Given the description of an element on the screen output the (x, y) to click on. 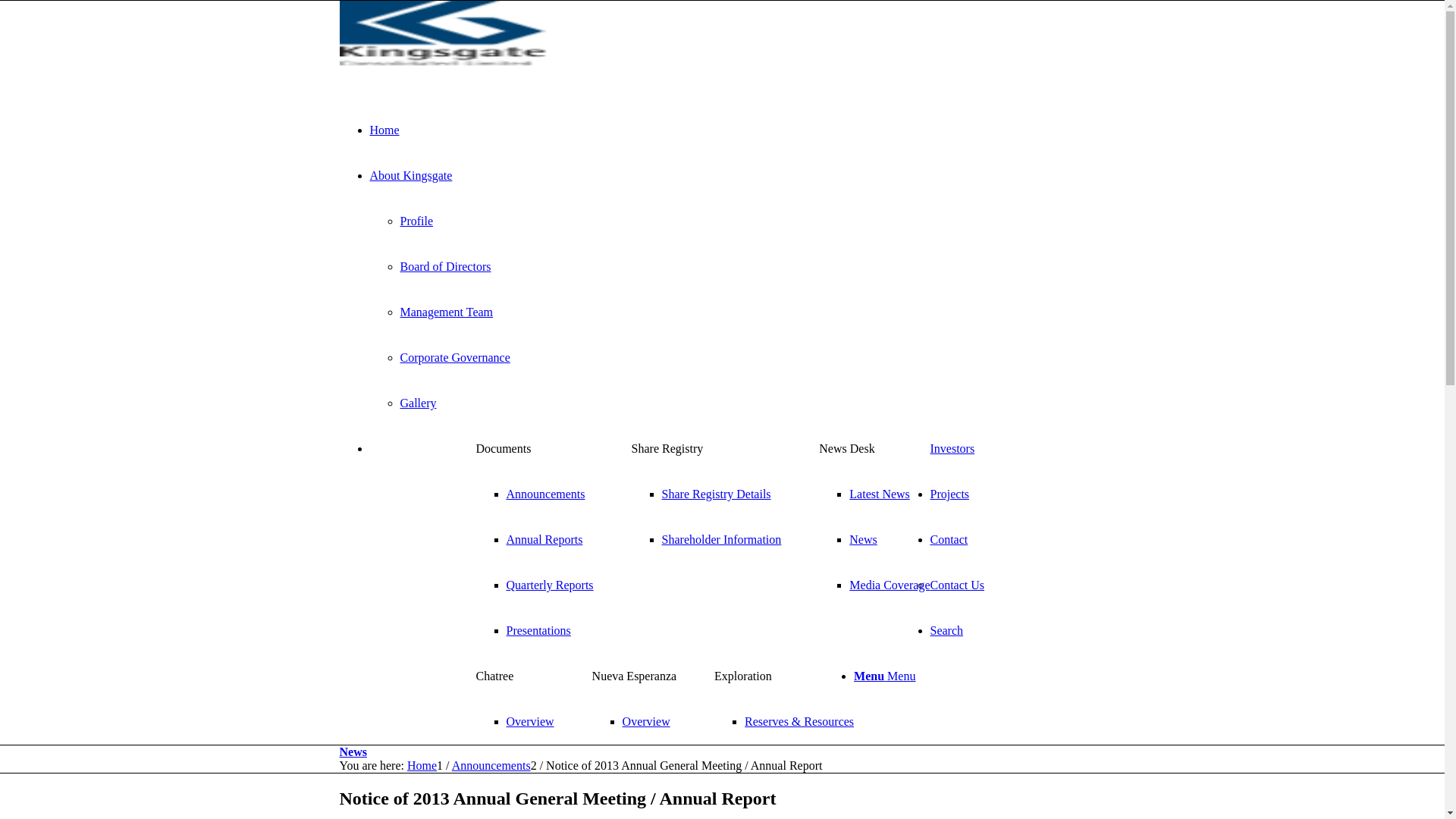
Home Element type: text (384, 129)
KCN_WebLogo_SMALL Element type: hover (453, 38)
Menu Menu Element type: text (884, 675)
Latest News Element type: text (879, 493)
Corporate Governance Element type: text (455, 357)
Board of Directors Element type: text (445, 266)
Quarterly Reports Element type: text (549, 584)
Presentations Element type: text (538, 630)
News Element type: text (353, 751)
Annual Reports Element type: text (544, 539)
Search Element type: text (946, 630)
Investors Element type: text (951, 448)
Media Coverage Element type: text (889, 584)
KCN_WebLogo_SMALL Element type: hover (453, 71)
Profile Element type: text (416, 220)
Announcements Element type: text (490, 765)
About Kingsgate Element type: text (411, 175)
Announcements Element type: text (545, 493)
News Element type: text (862, 539)
Contact Us Element type: text (956, 584)
Overview Element type: text (530, 721)
Home Element type: text (421, 765)
Projects Element type: text (949, 493)
Share Registry Details Element type: text (716, 493)
Management Team Element type: text (446, 311)
Gallery Element type: text (418, 402)
Shareholder Information Element type: text (721, 539)
Overview Element type: text (646, 721)
Reserves & Resources Element type: text (798, 721)
Contact Element type: text (948, 539)
